Given the description of an element on the screen output the (x, y) to click on. 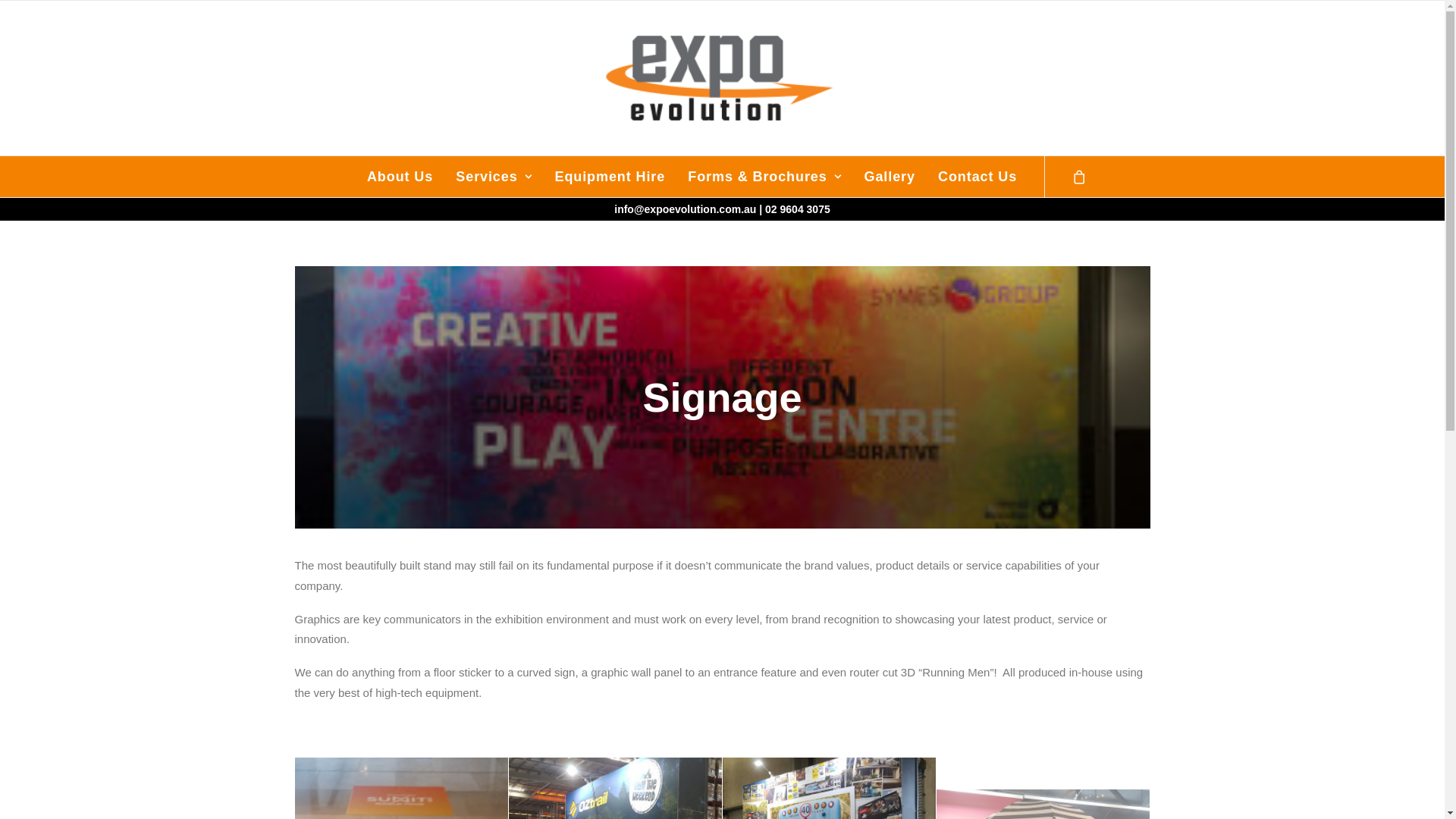
cart Element type: hover (1079, 176)
Forms & Brochures Element type: text (763, 176)
info@expoevolution.com.au Element type: text (685, 209)
About Us Element type: text (399, 176)
Equipment Hire Element type: text (609, 176)
Services Element type: text (493, 176)
Contact Us Element type: text (972, 176)
Gallery Element type: text (889, 176)
02 9604 3075 Element type: text (797, 209)
